Given the description of an element on the screen output the (x, y) to click on. 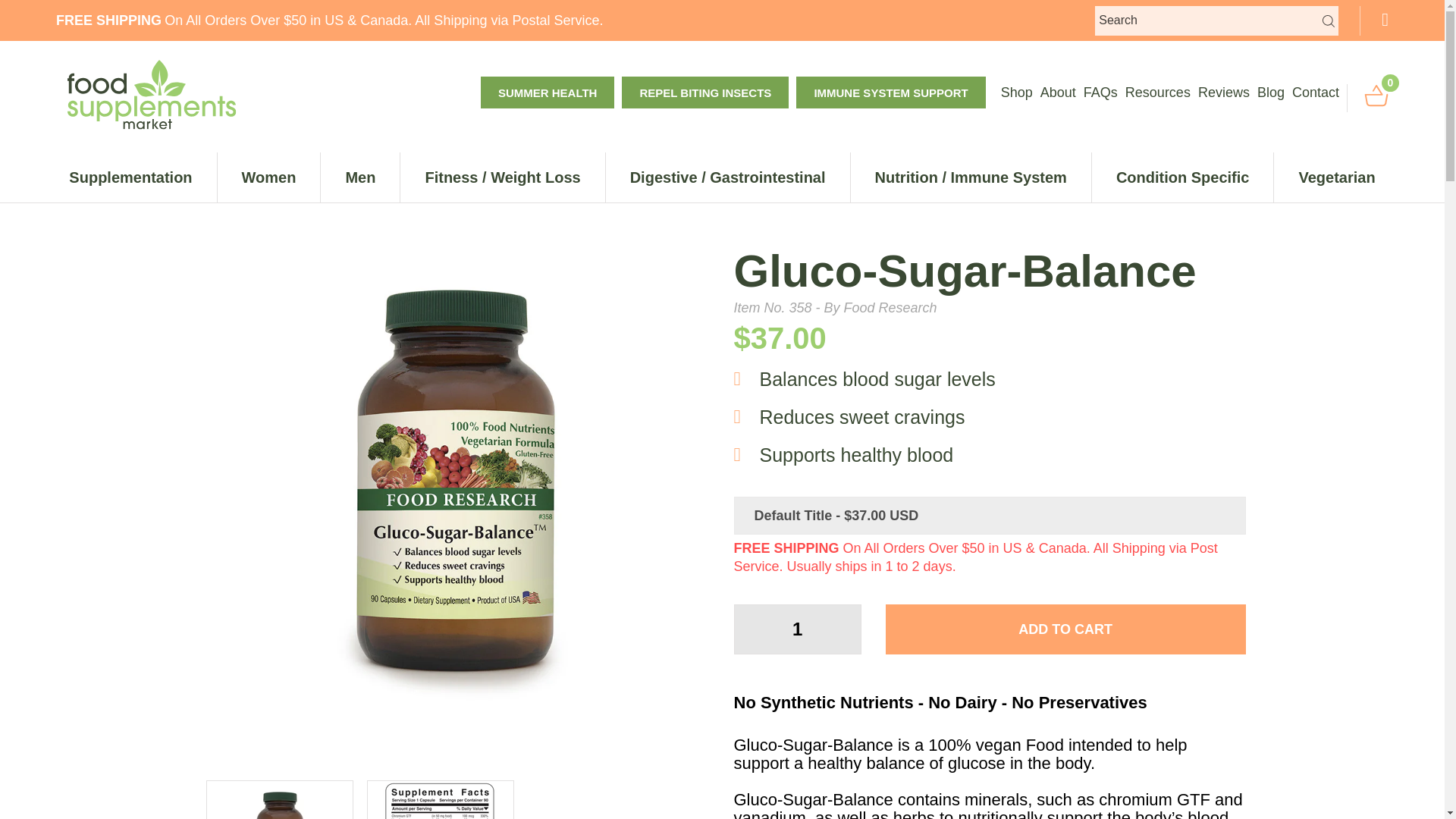
About (1058, 92)
Condition Specific (1183, 176)
REPEL BITING INSECTS (705, 92)
Women (268, 176)
Men (359, 176)
FAQs (1100, 92)
Supplementation (137, 176)
Contact (1315, 92)
Blog (1270, 92)
IMMUNE SYSTEM SUPPORT (890, 92)
